Given the description of an element on the screen output the (x, y) to click on. 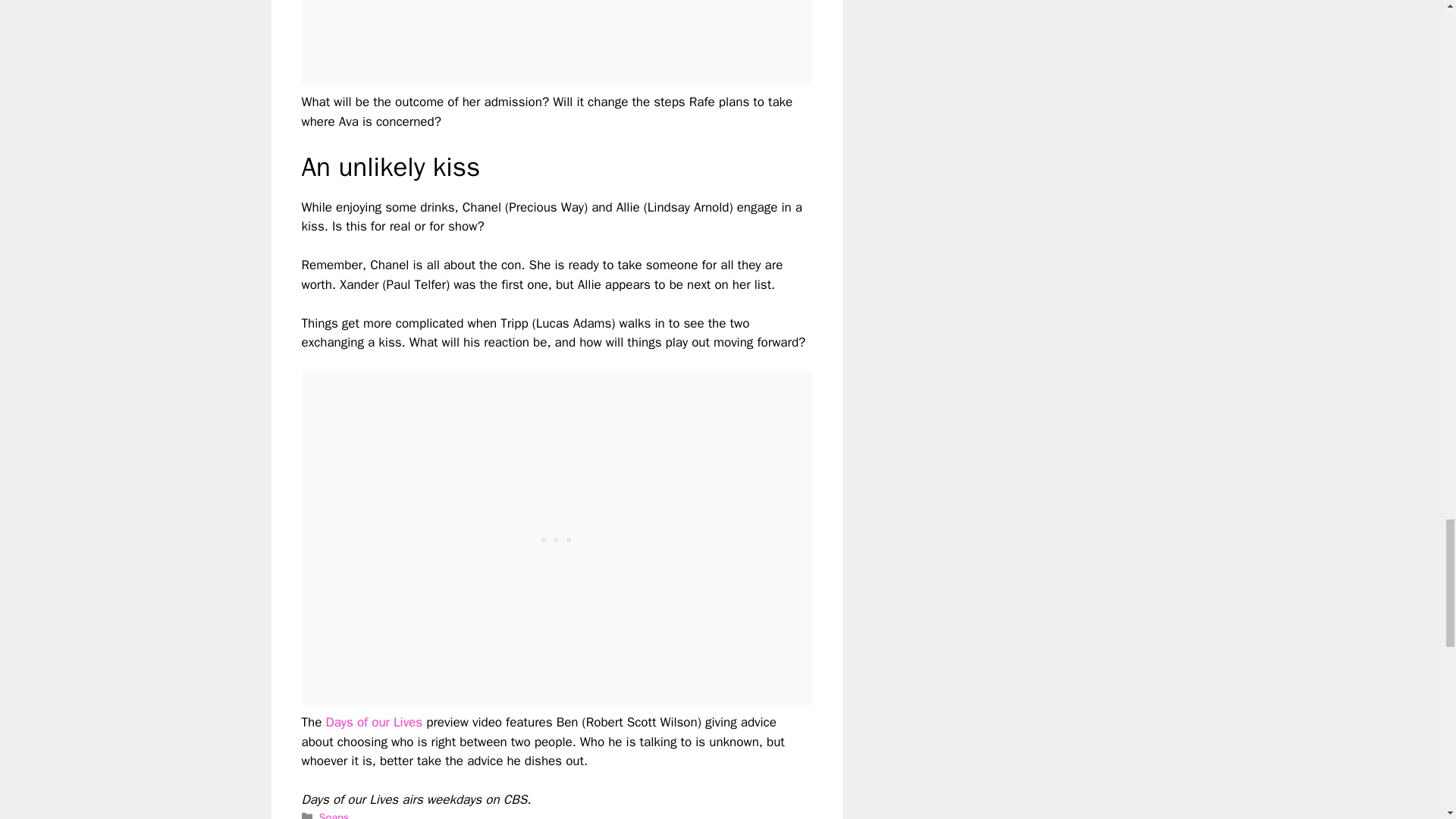
Days of our Lives (373, 722)
Soaps (333, 814)
